Given the description of an element on the screen output the (x, y) to click on. 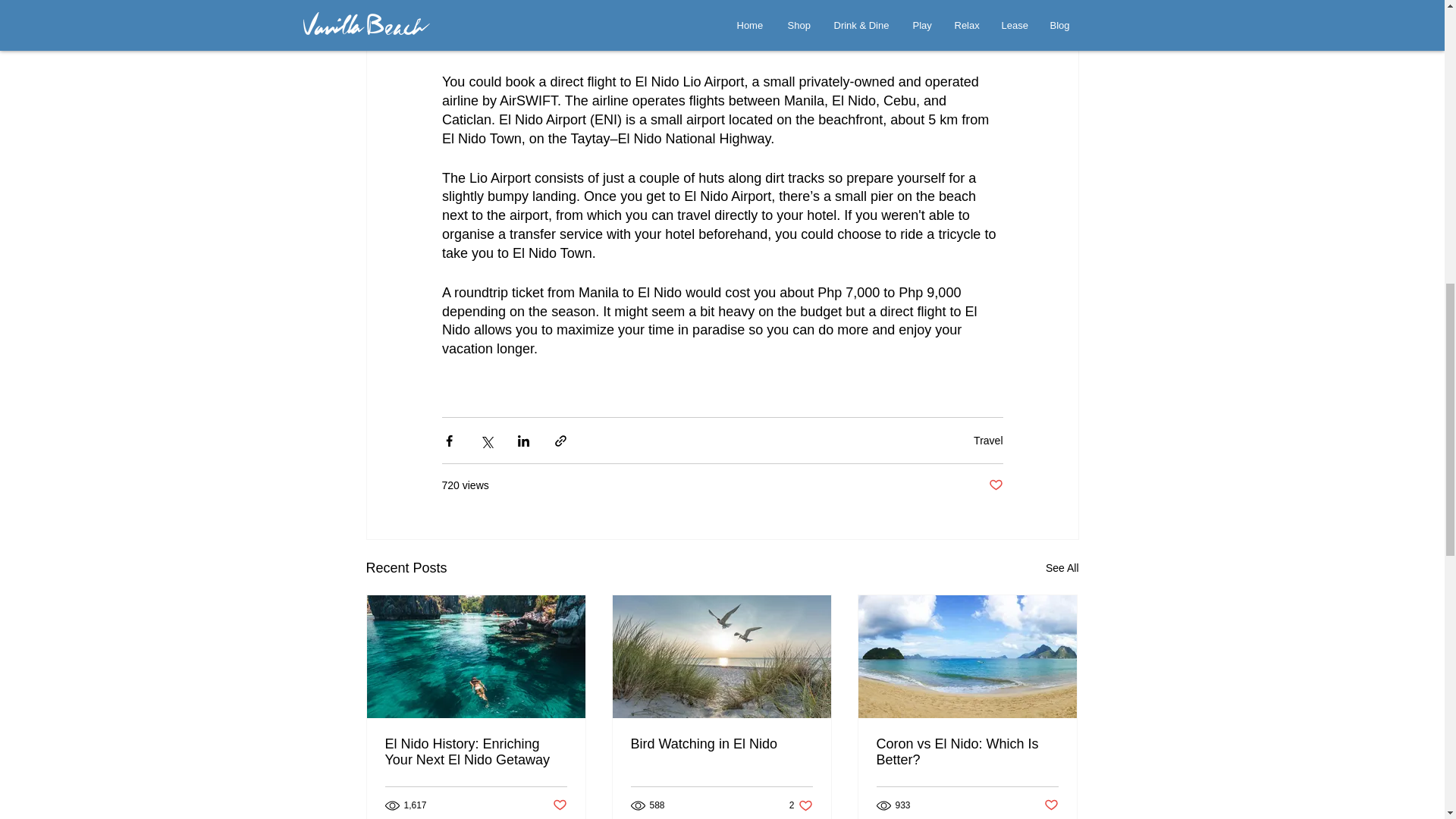
El Nido History: Enriching Your Next El Nido Getaway (476, 752)
Post not marked as liked (558, 805)
Travel (988, 440)
Bird Watching in El Nido (721, 744)
See All (1061, 568)
Post not marked as liked (800, 805)
Coron vs El Nido: Which Is Better? (995, 485)
Post not marked as liked (967, 752)
